Given the description of an element on the screen output the (x, y) to click on. 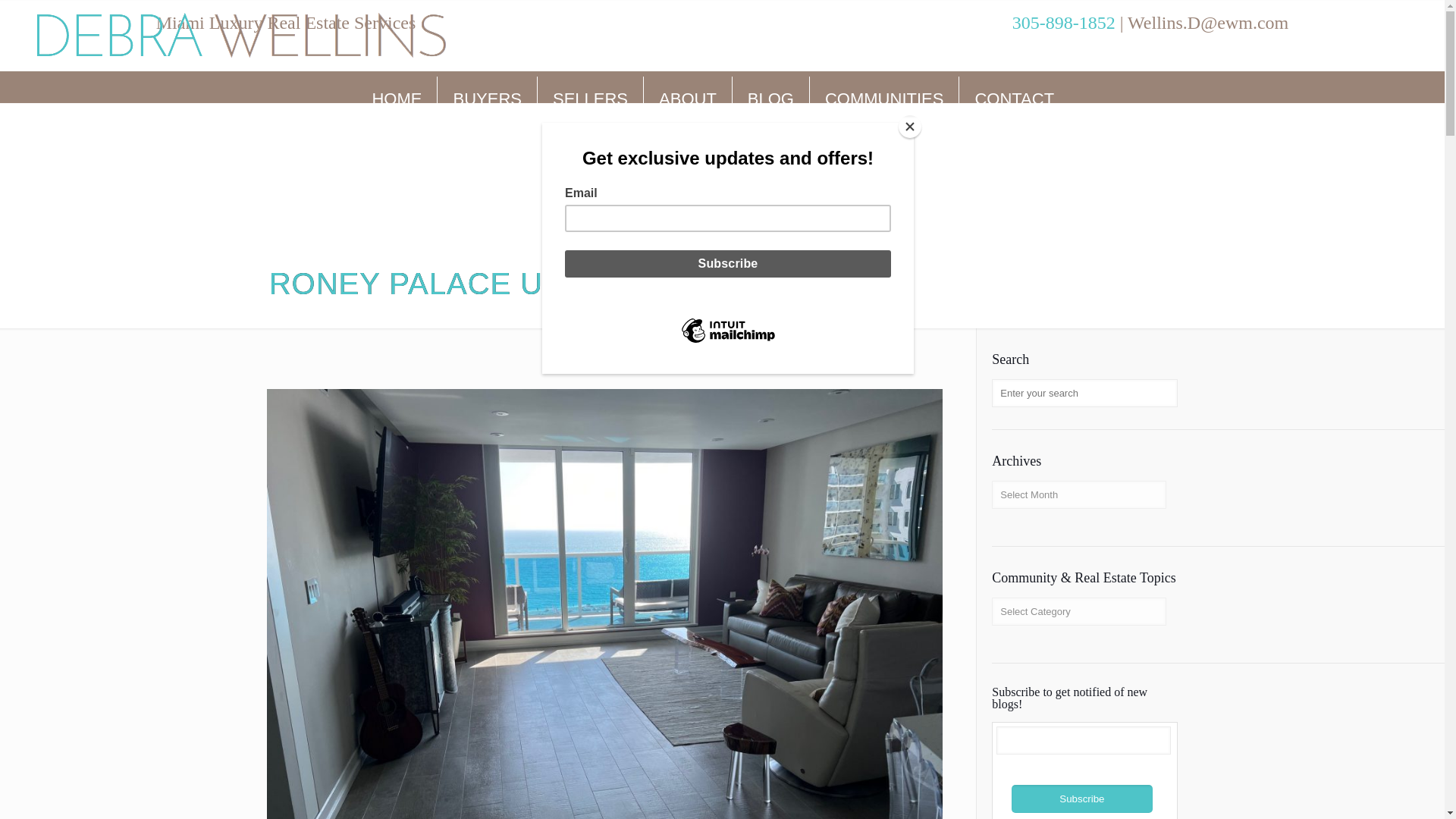
HOME (397, 99)
BUYERS (487, 99)
BLOG (770, 99)
SELLERS (590, 99)
ABOUT (687, 99)
Subscribe (1082, 798)
